Given the description of an element on the screen output the (x, y) to click on. 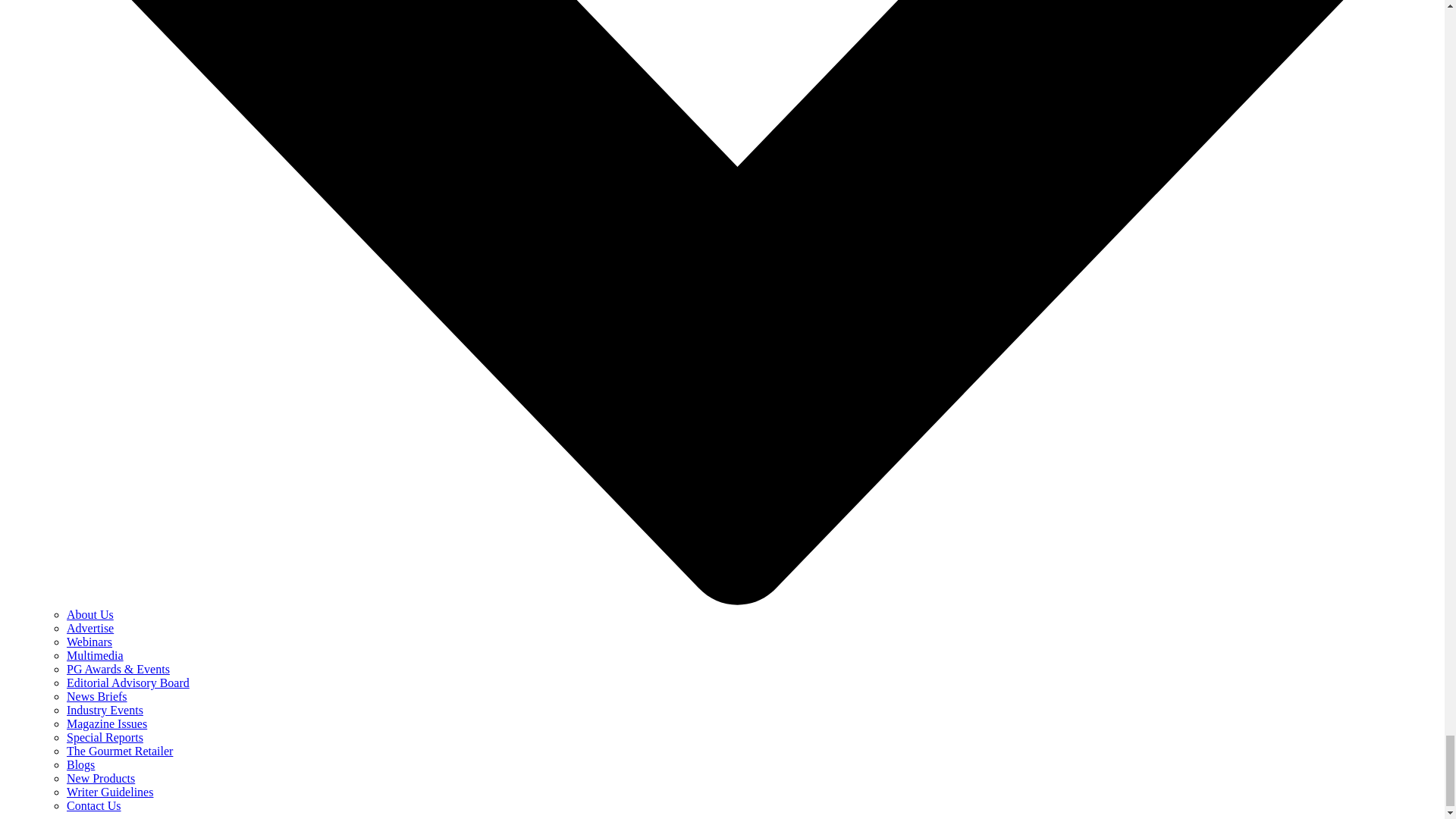
News Briefs (97, 696)
Special Reports (104, 737)
Magazine Issues (106, 723)
Advertise (89, 627)
About Us (89, 614)
Multimedia (94, 655)
Editorial Advisory Board (127, 682)
Industry Events (104, 709)
Webinars (89, 641)
